Given the description of an element on the screen output the (x, y) to click on. 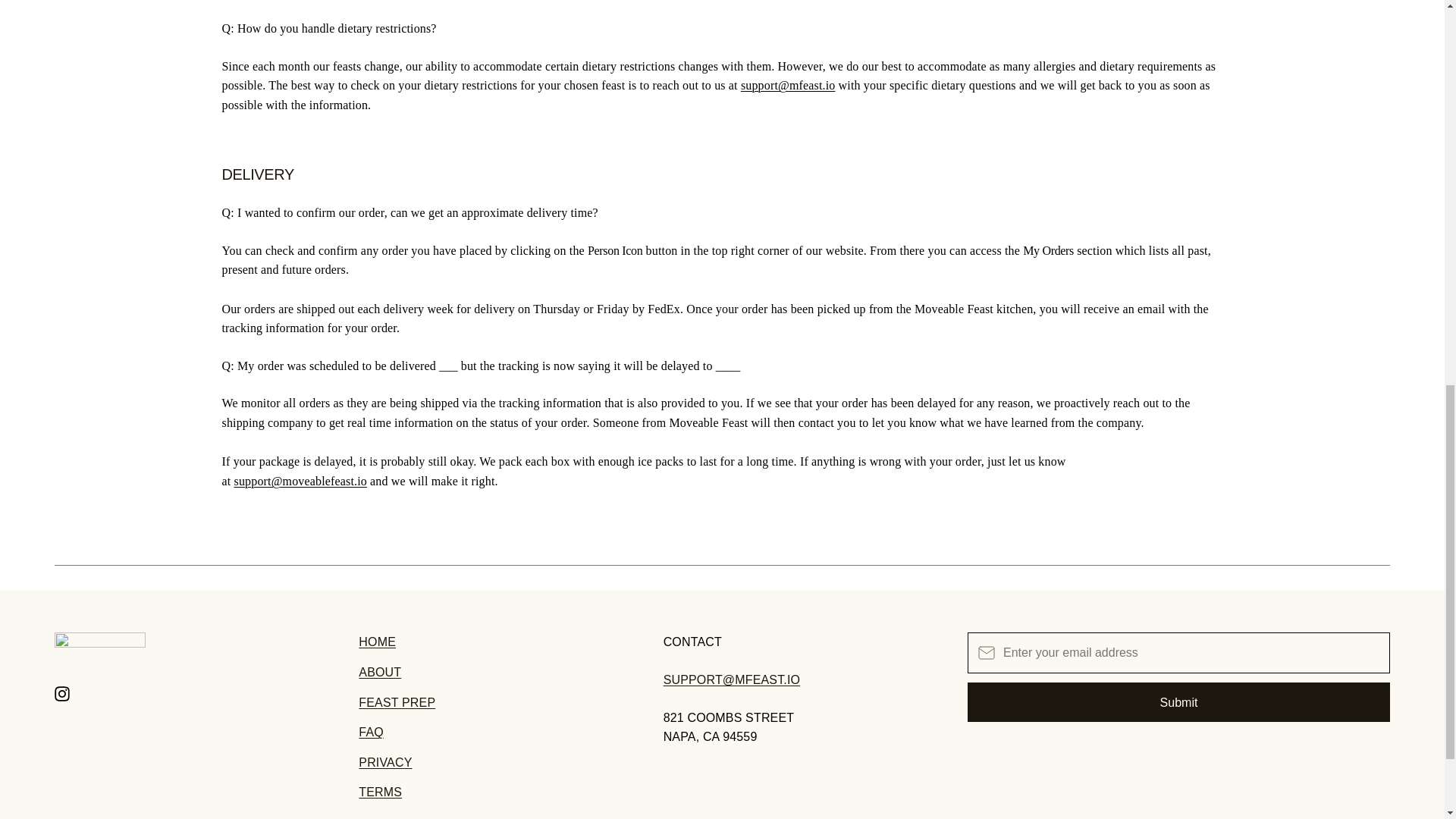
FEAST PREP (396, 702)
HOME (377, 641)
ABOUT (379, 671)
FAQ (371, 731)
TERMS (379, 791)
PRIVACY (385, 762)
